Given the description of an element on the screen output the (x, y) to click on. 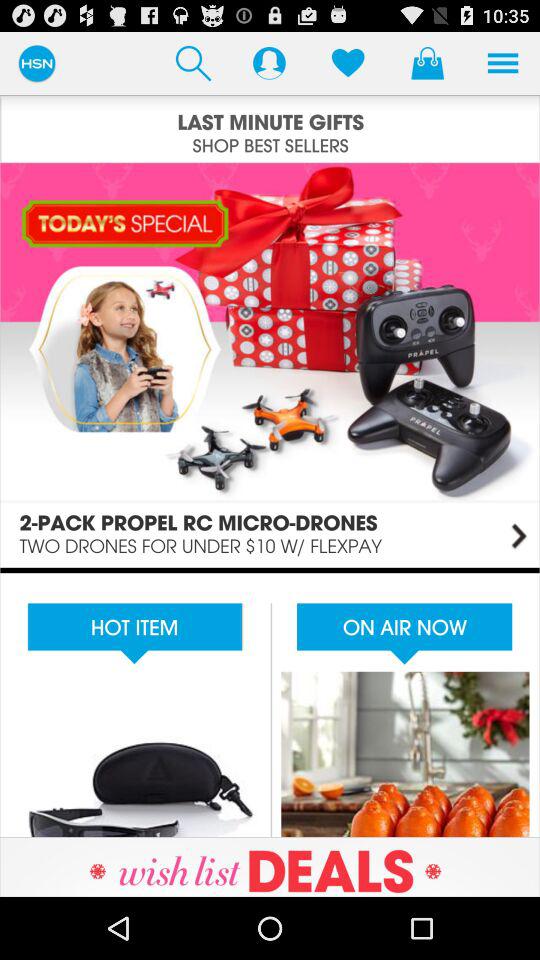
add to favorites (348, 62)
